Given the description of an element on the screen output the (x, y) to click on. 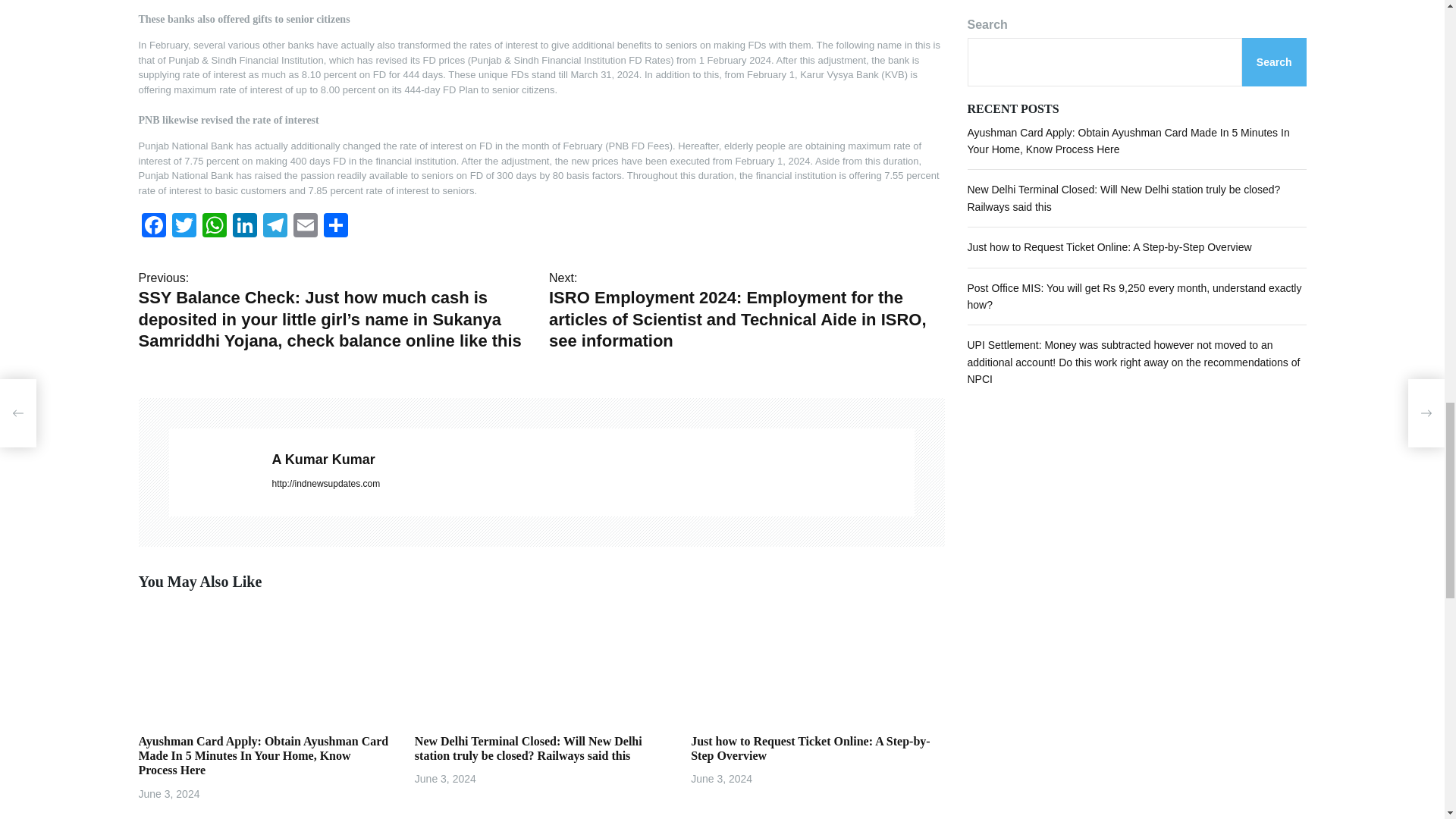
A Kumar Kumar (212, 472)
LinkedIn (243, 226)
Telegram (274, 226)
WhatsApp (213, 226)
Twitter (183, 226)
Facebook (153, 226)
Email (304, 226)
A Kumar Kumar (592, 459)
